Given the description of an element on the screen output the (x, y) to click on. 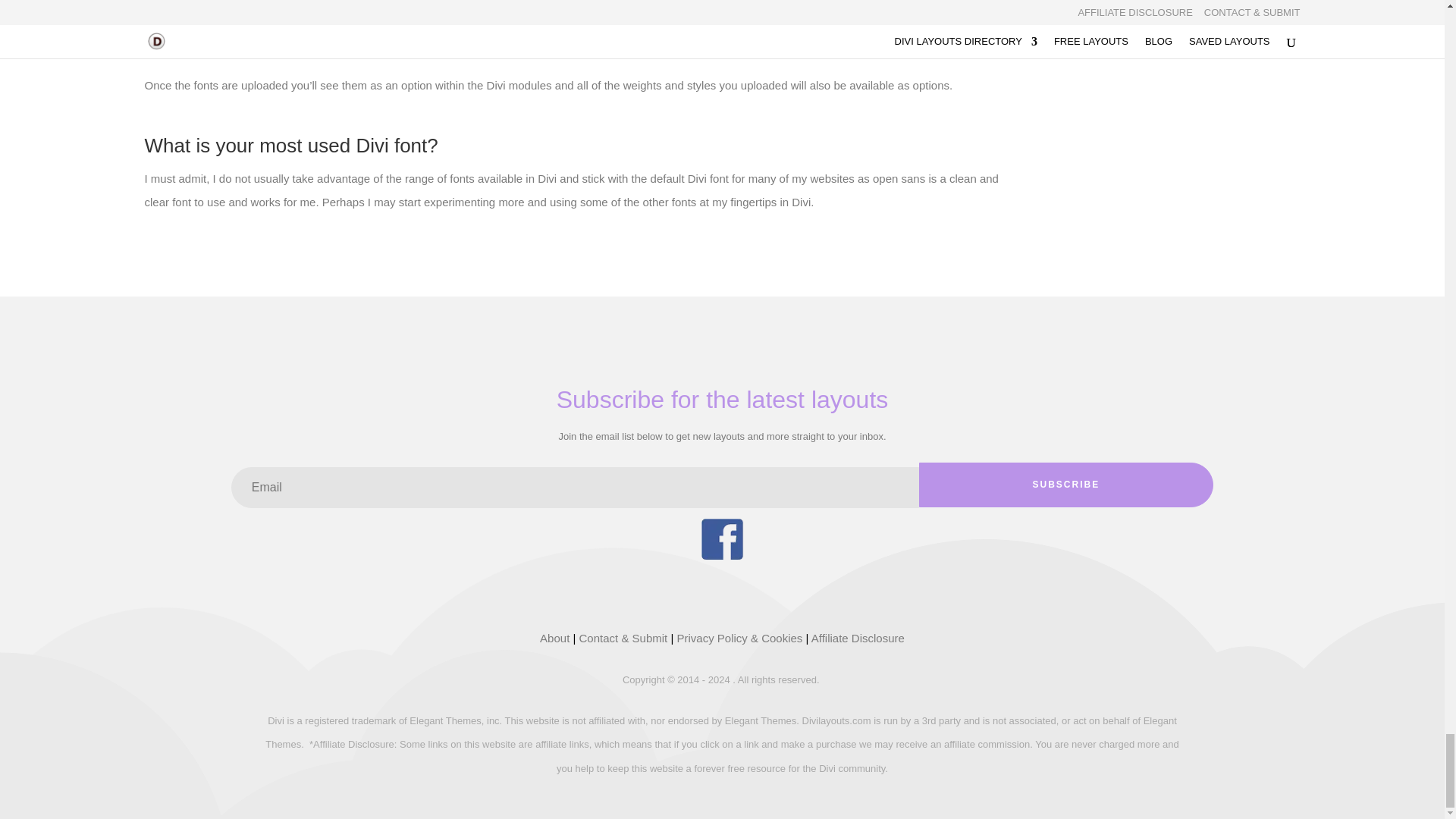
Divi Layouts Facebook group (721, 555)
